Given the description of an element on the screen output the (x, y) to click on. 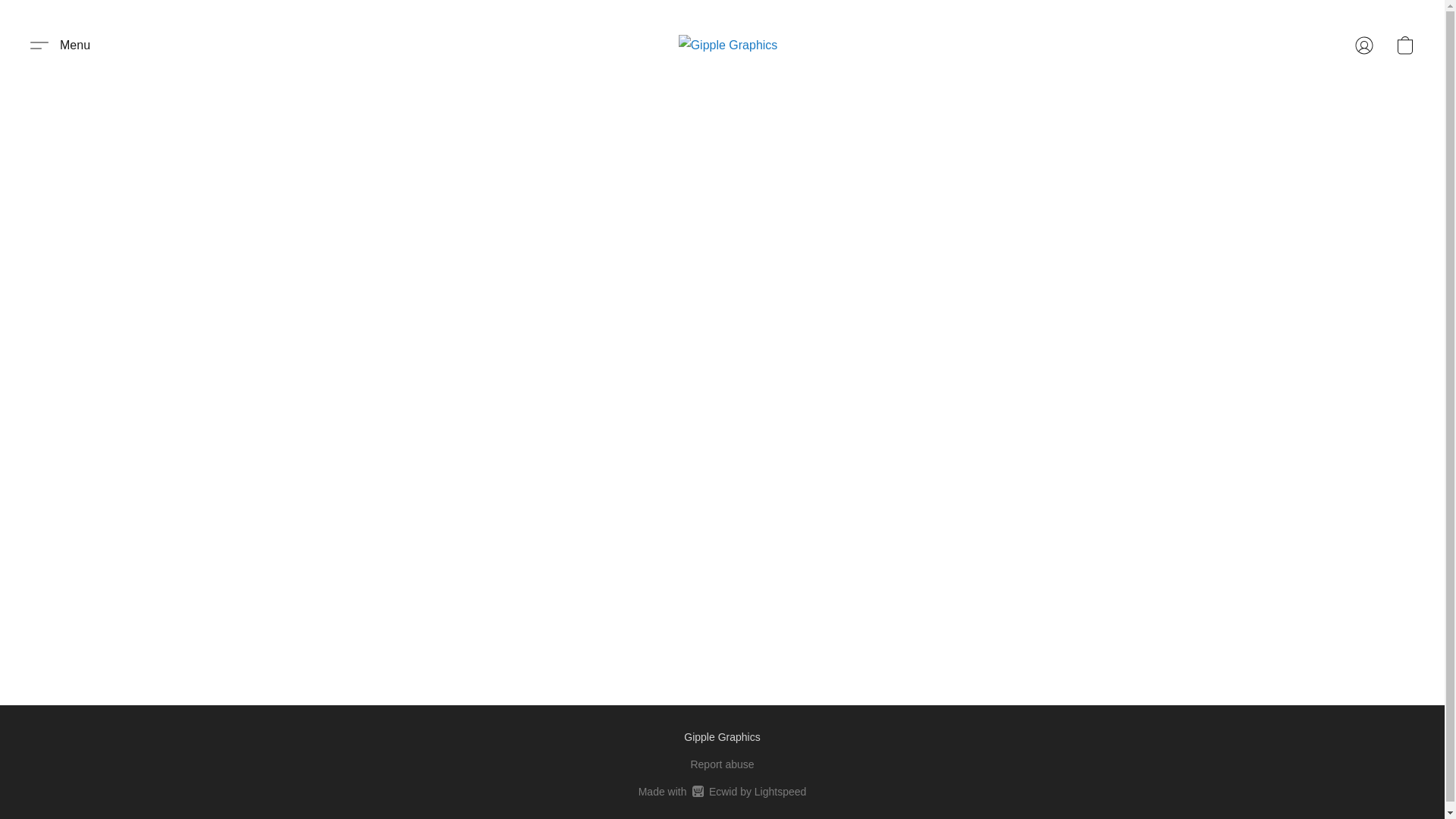
Menu (59, 45)
Go to your shopping cart (722, 791)
Report abuse (1404, 45)
